Given the description of an element on the screen output the (x, y) to click on. 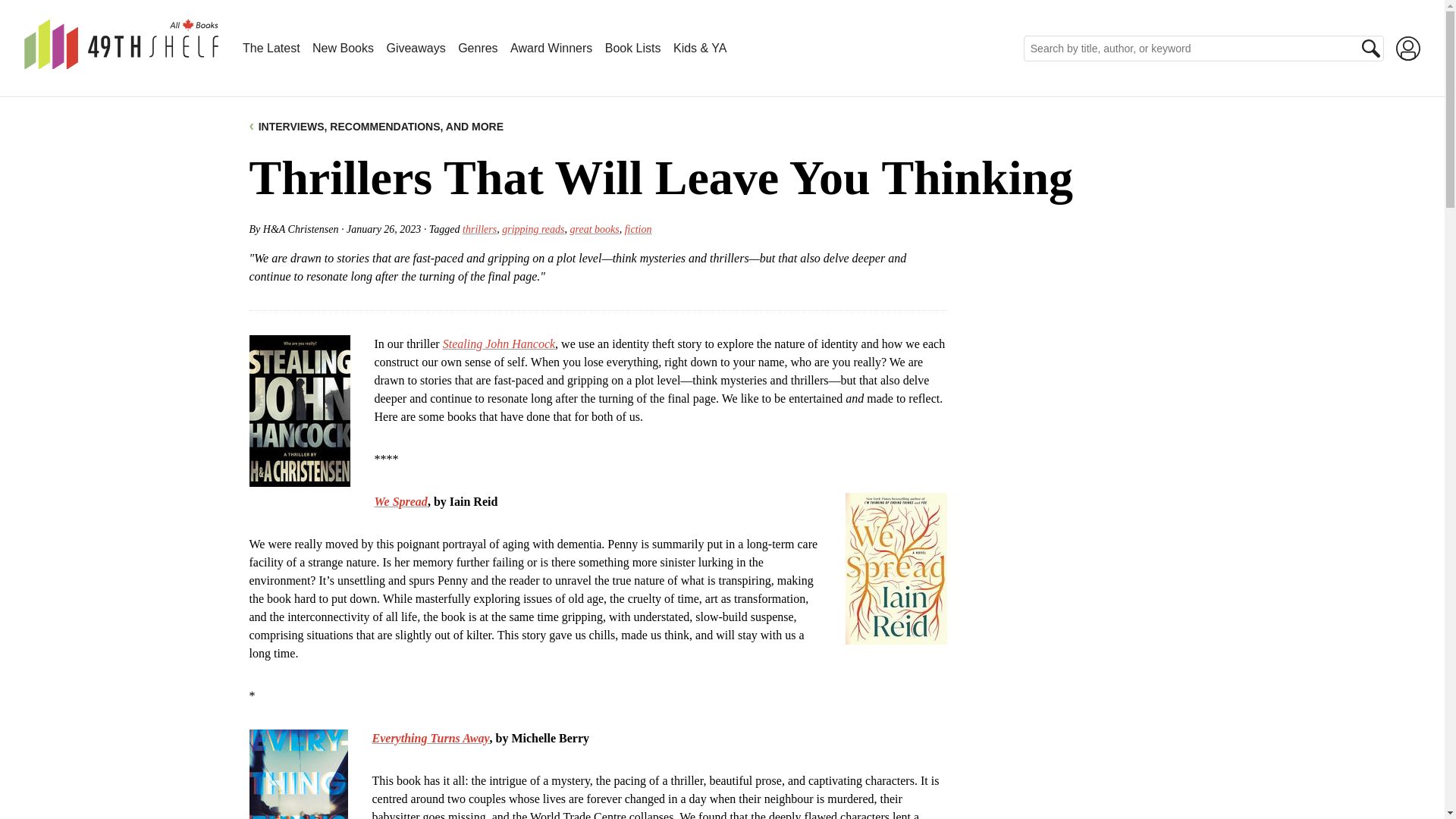
49th Shelf: All Canadian Books (121, 60)
New Books (343, 48)
Award Winners (551, 48)
View more blog posts tagged great books (595, 229)
INTERVIEWS, RECOMMENDATIONS, AND MORE (375, 126)
49th Shelf: All Canadian Books (121, 43)
View more blog posts tagged fiction (638, 229)
Everything Turns Away (430, 737)
Search (1370, 48)
We Spread (401, 500)
gripping reads (533, 229)
The Latest (271, 48)
View more blog posts tagged gripping reads (533, 229)
great books (595, 229)
Book Lists (633, 48)
